Given the description of an element on the screen output the (x, y) to click on. 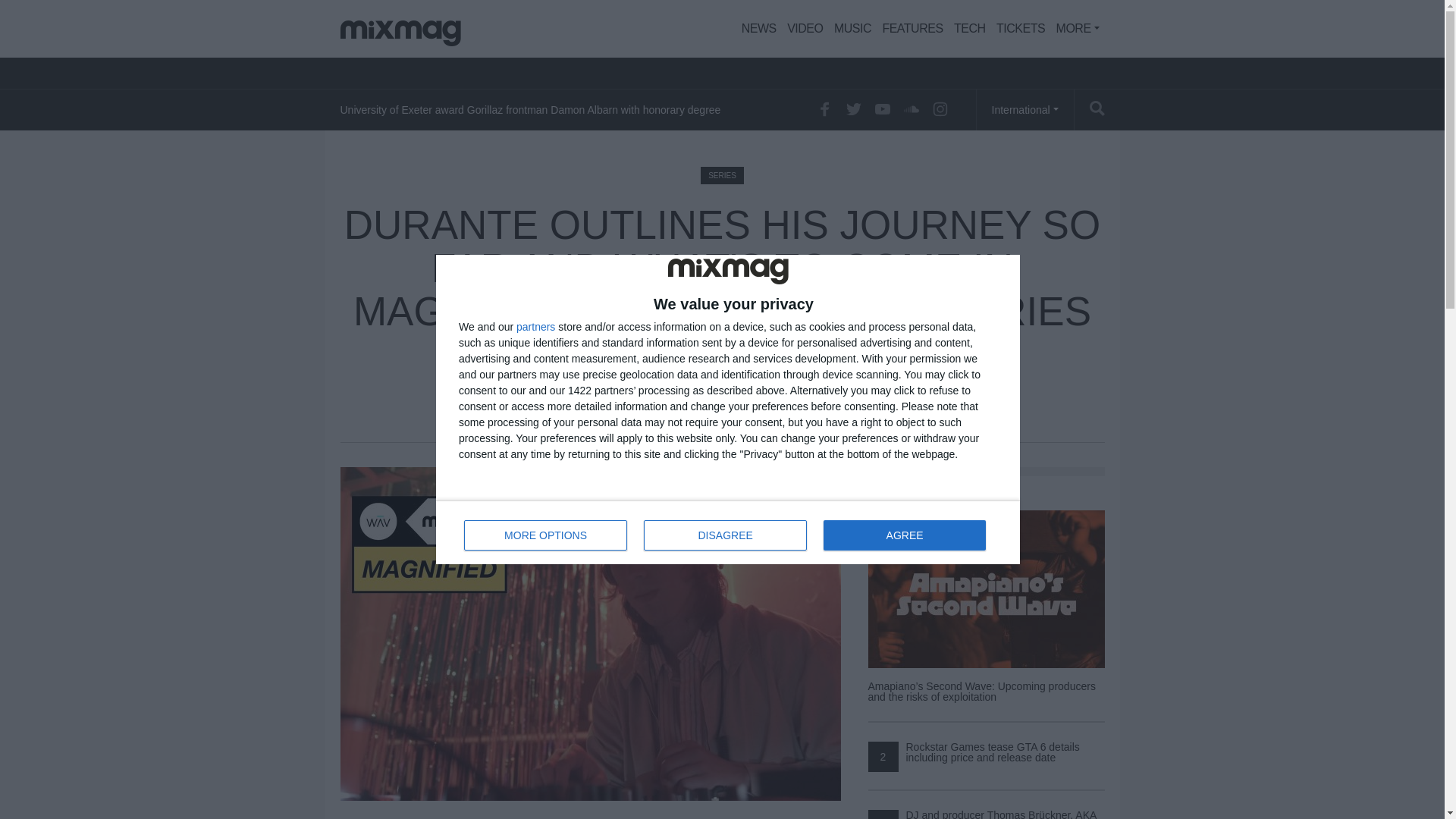
FEATURES (911, 28)
DISAGREE (727, 532)
partners (724, 535)
TICKETS (535, 326)
MORE (1020, 28)
AGREE (1078, 28)
MORE OPTIONS (904, 535)
